Given the description of an element on the screen output the (x, y) to click on. 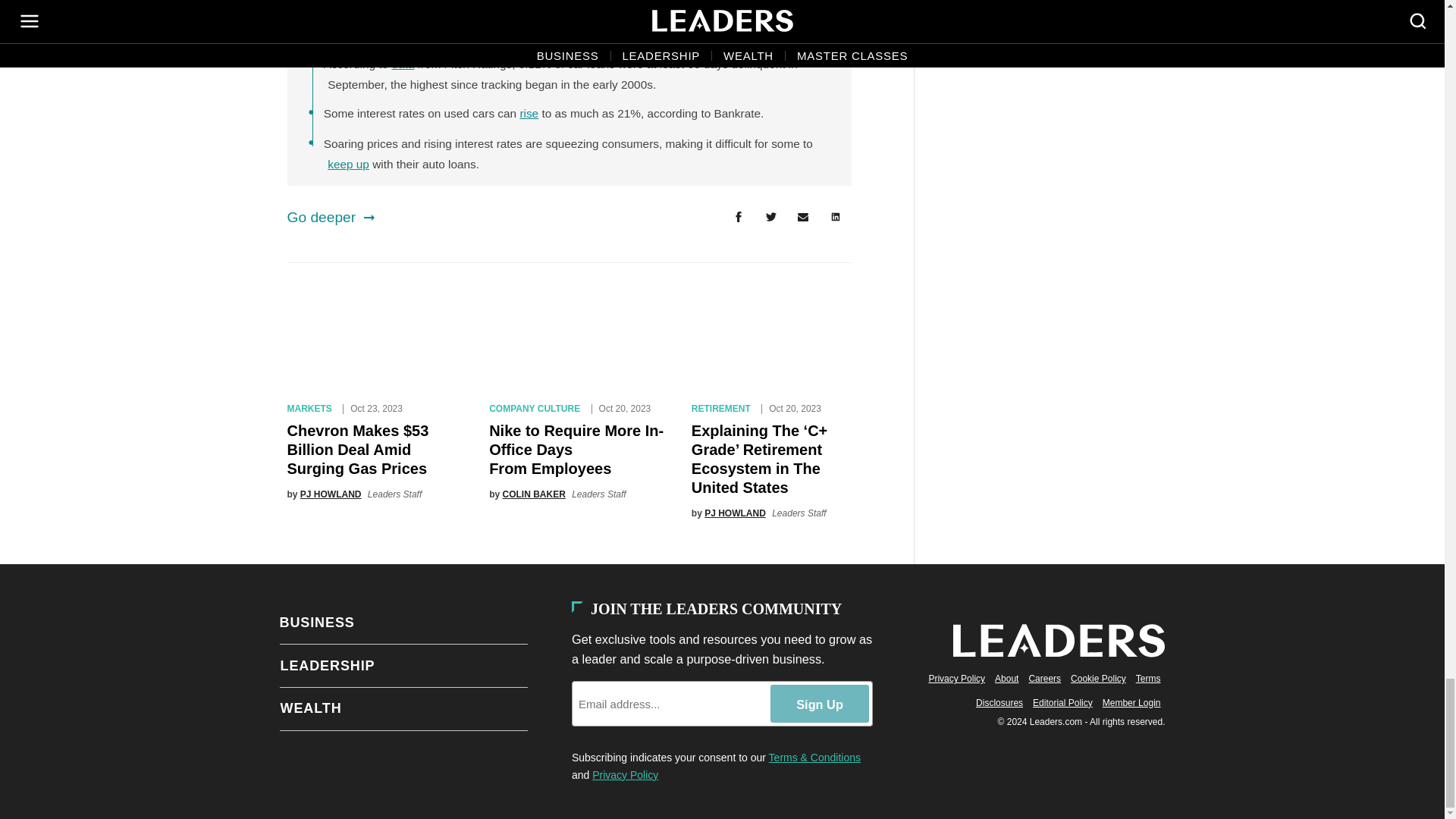
Share via Email (803, 218)
Sign Up (819, 703)
Share on Twitter (770, 218)
Share on Facebook (738, 218)
Share on LinkedIn (835, 218)
